Given the description of an element on the screen output the (x, y) to click on. 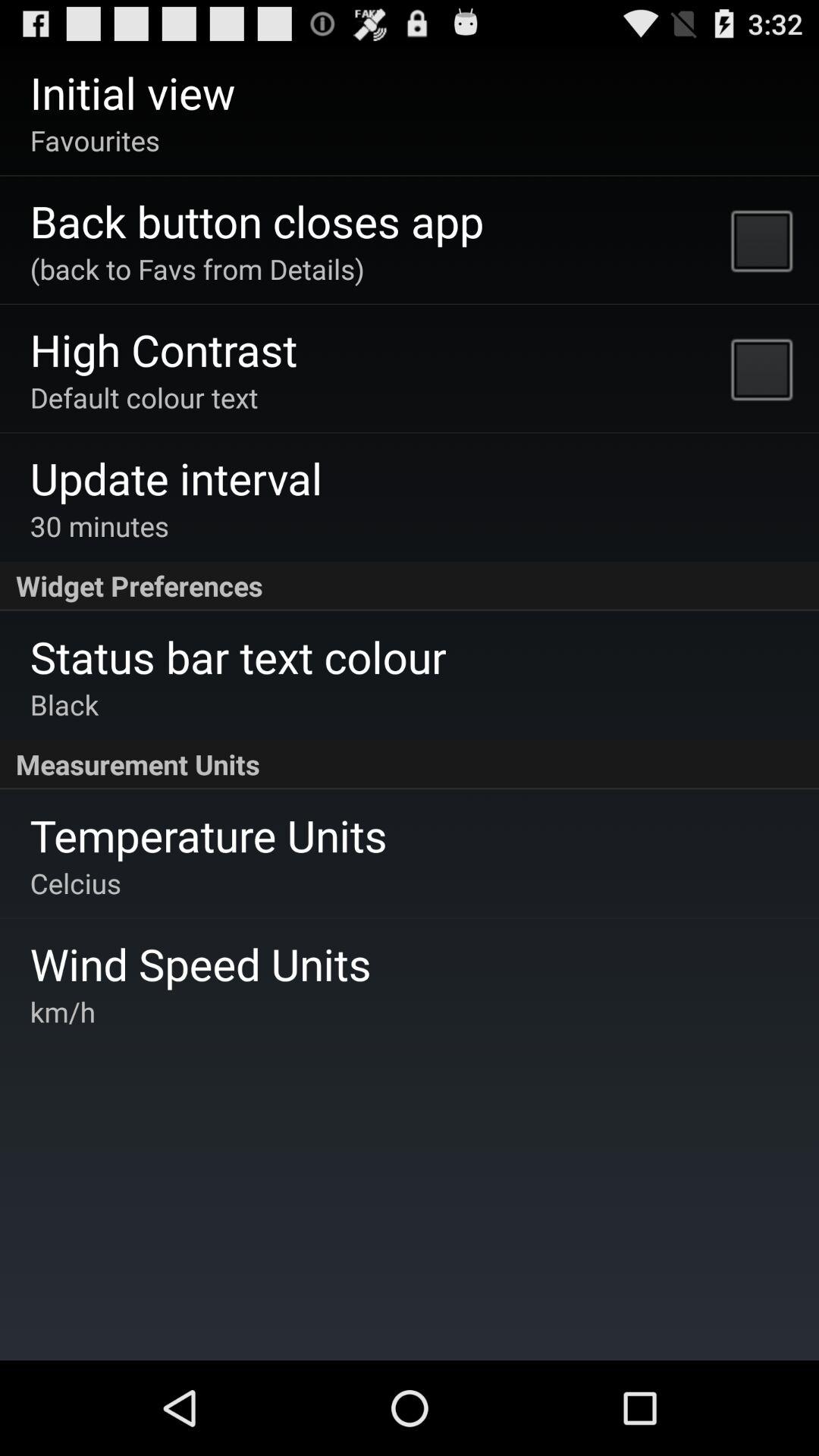
open status bar text (238, 656)
